Given the description of an element on the screen output the (x, y) to click on. 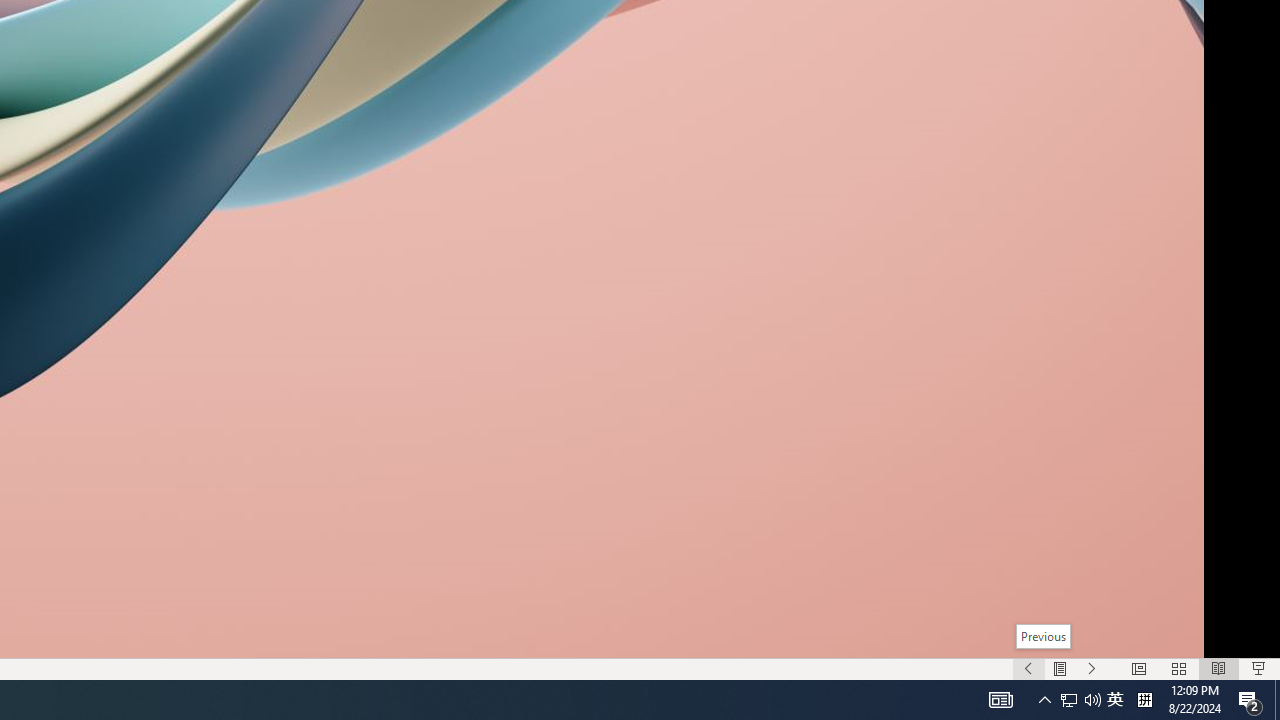
Menu On (1060, 668)
Slide Show Next On (1092, 668)
Previous (1043, 636)
Slide Show Previous On (1028, 668)
